Given the description of an element on the screen output the (x, y) to click on. 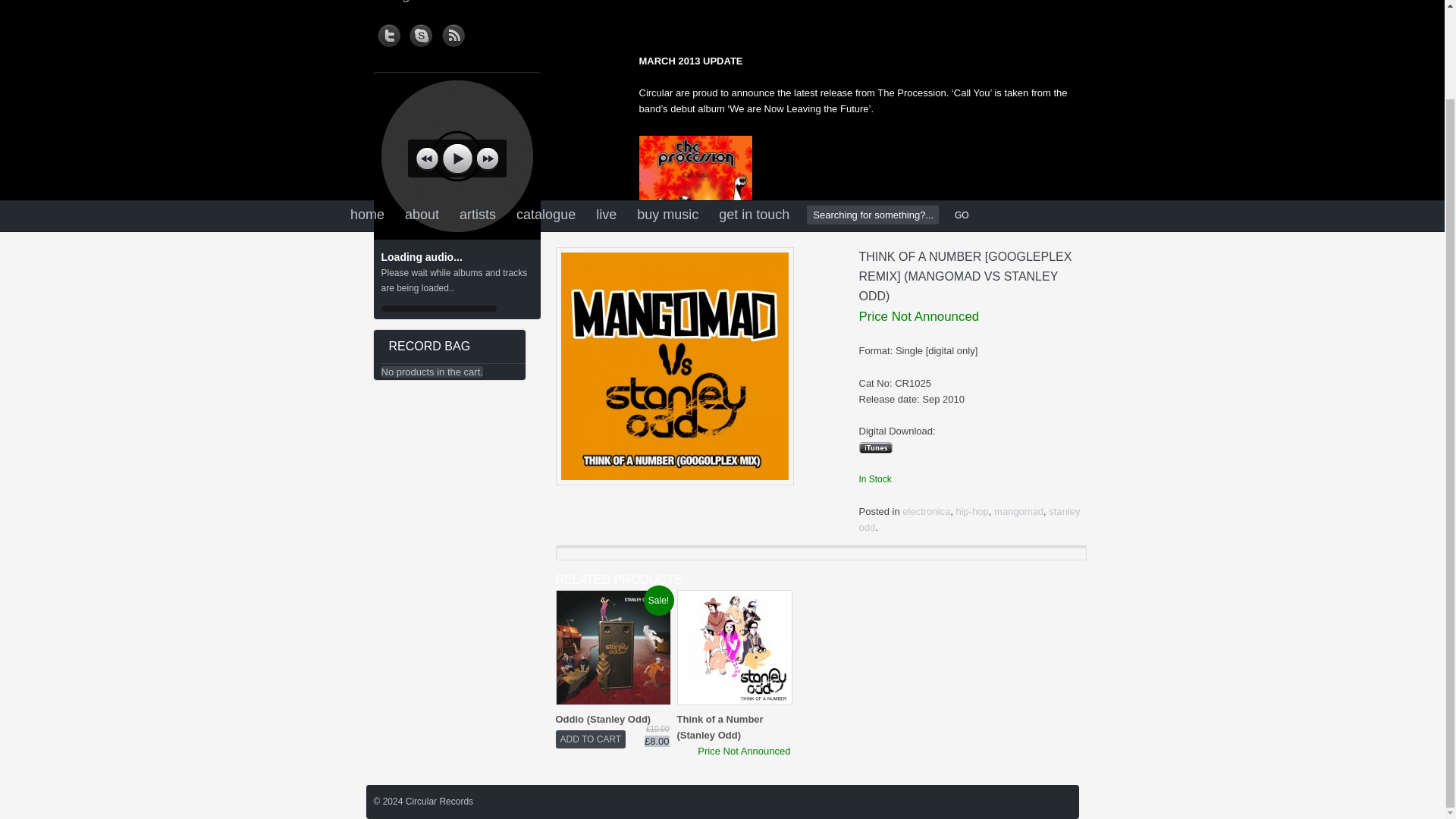
live (606, 214)
skype (421, 32)
Searching for something?... (872, 214)
Searching for something?... (872, 214)
about (422, 214)
rss (453, 32)
Link to Twitter (389, 32)
Link to Skype (421, 32)
GO (959, 215)
home (366, 214)
twitter (389, 32)
catalogue (545, 214)
buy music (667, 214)
Link to RSS (453, 32)
GO (959, 215)
